Given the description of an element on the screen output the (x, y) to click on. 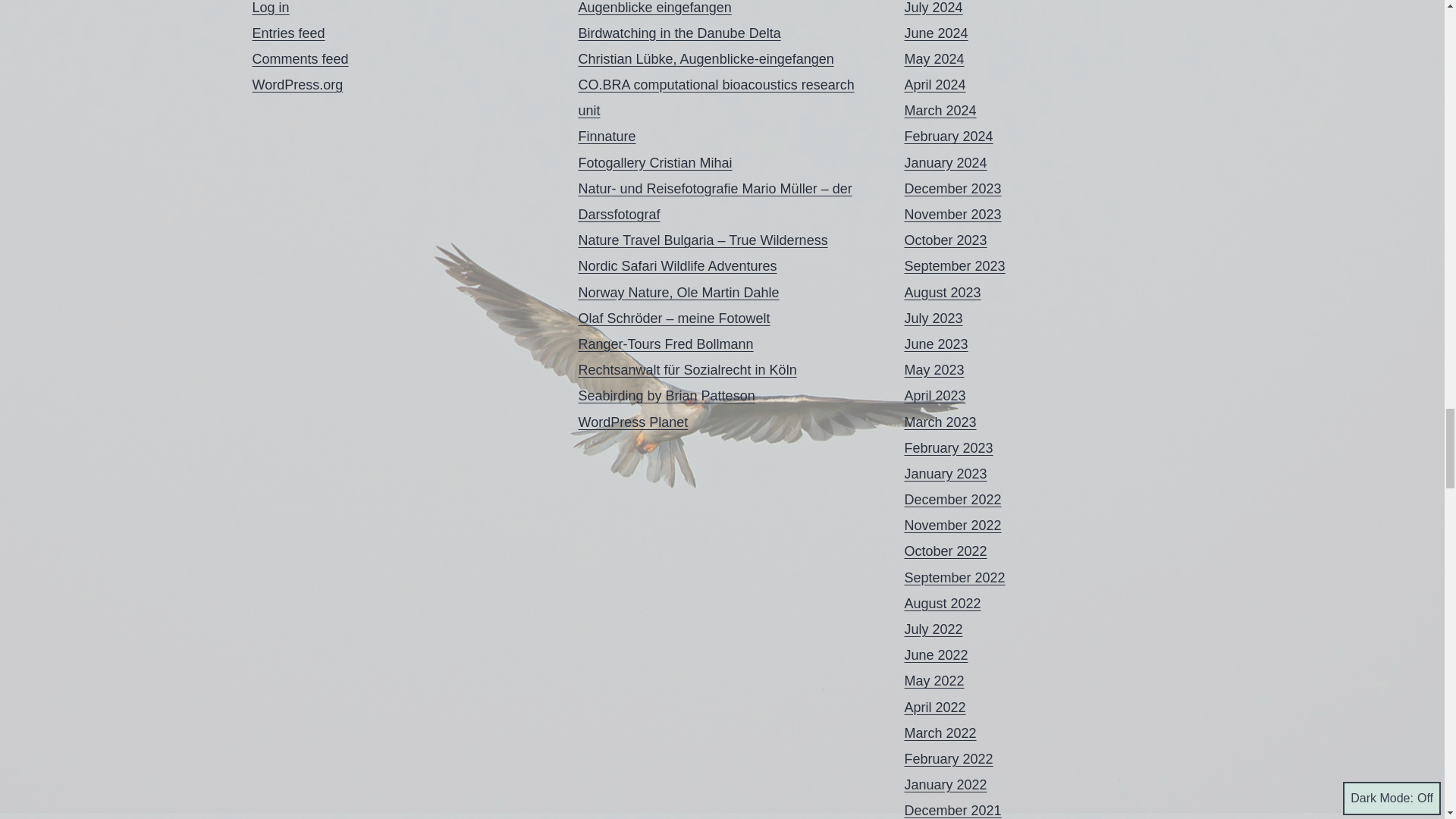
Photographing in Finland around Oulu and Kuusamo (606, 136)
Hide photography in Bulgaria (702, 240)
Besondere Augenblicke, eingefangen von Tobias Lampprecht (654, 7)
